Given the description of an element on the screen output the (x, y) to click on. 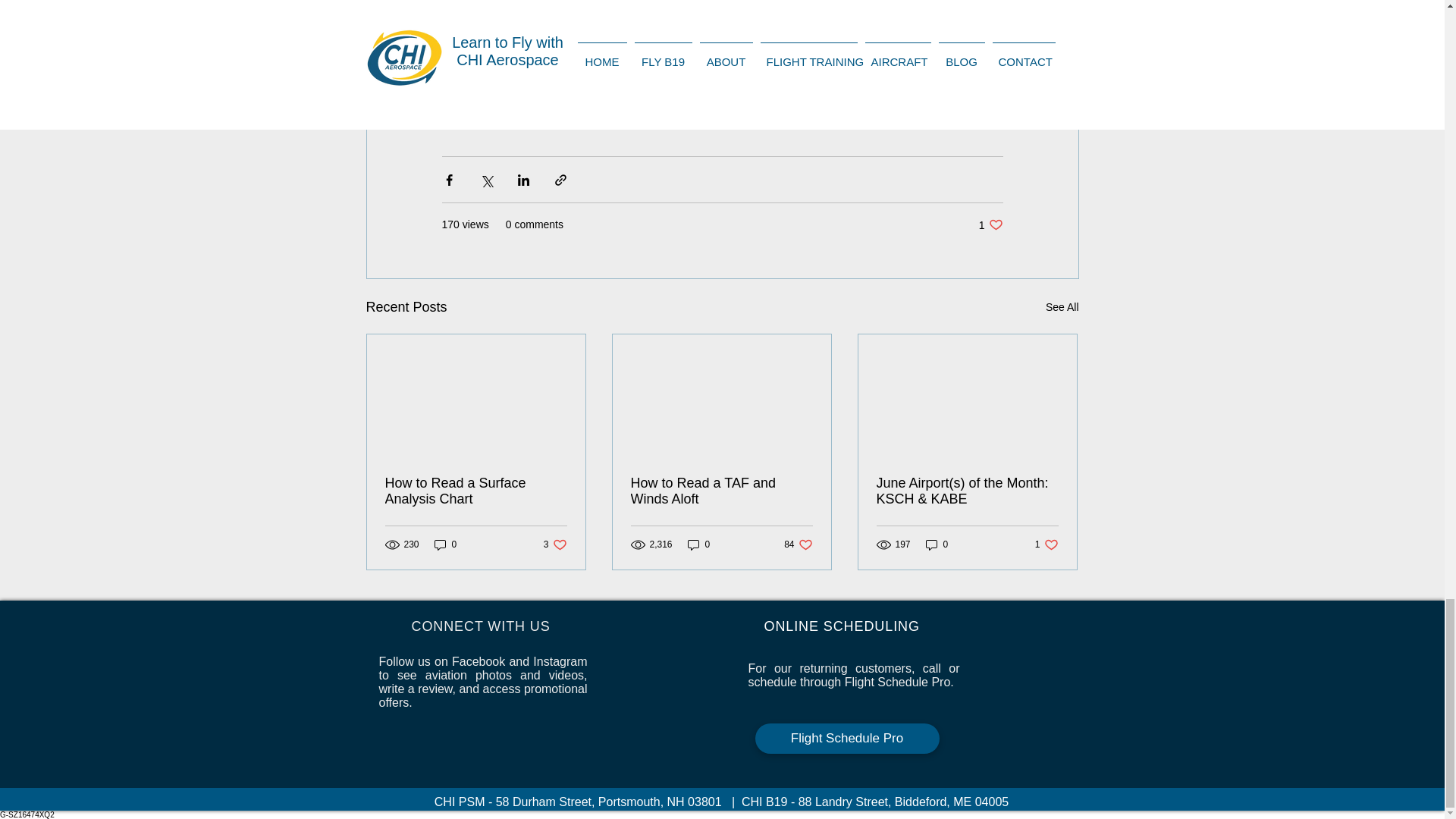
See All (990, 224)
How to Read a Surface Analysis Chart (1061, 307)
0 (476, 490)
